Given the description of an element on the screen output the (x, y) to click on. 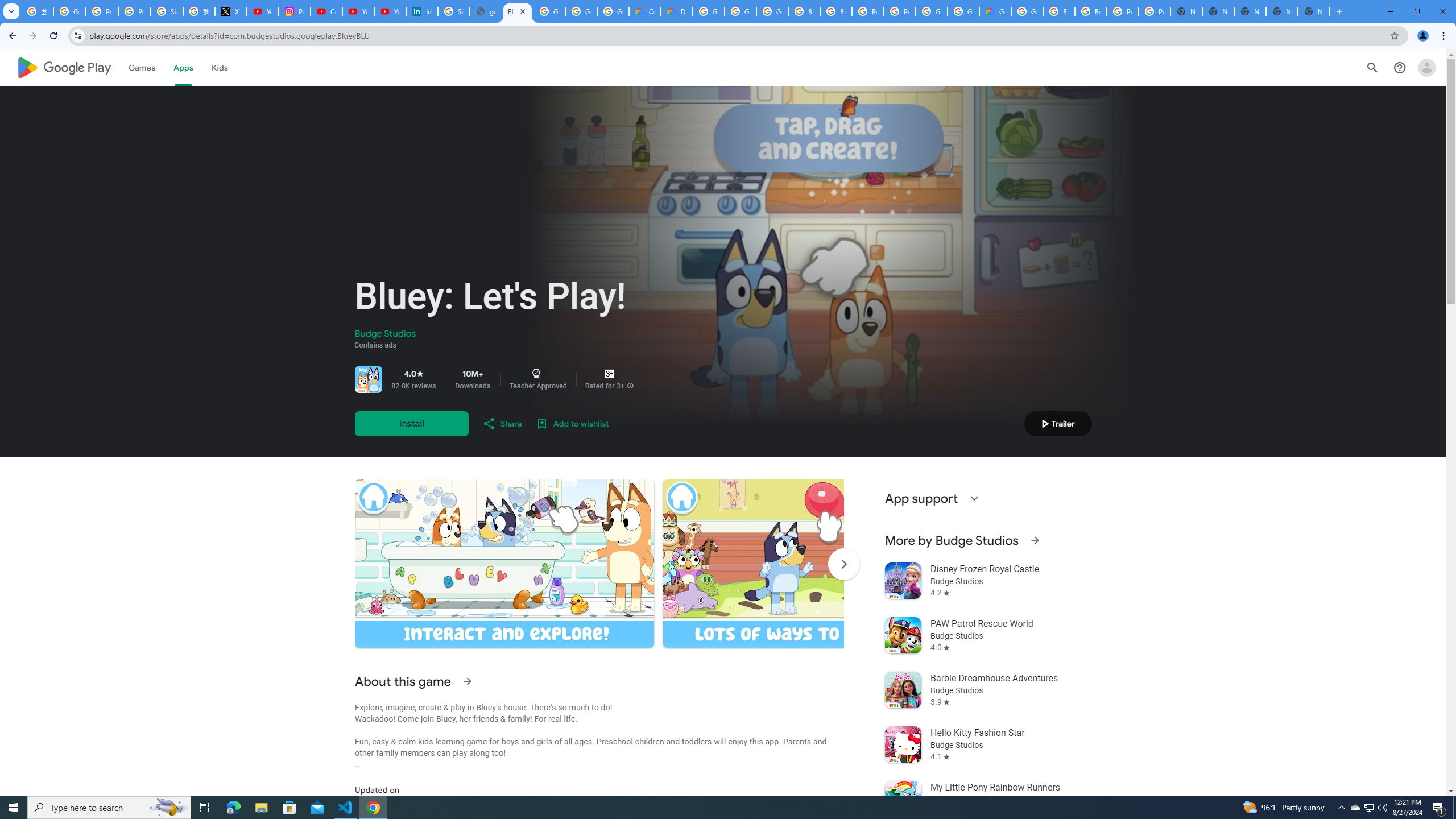
Games (141, 67)
YouTube Content Monetization Policies - How YouTube Works (262, 11)
Scroll Next (843, 563)
Install (410, 423)
Apps (182, 67)
